Given the description of an element on the screen output the (x, y) to click on. 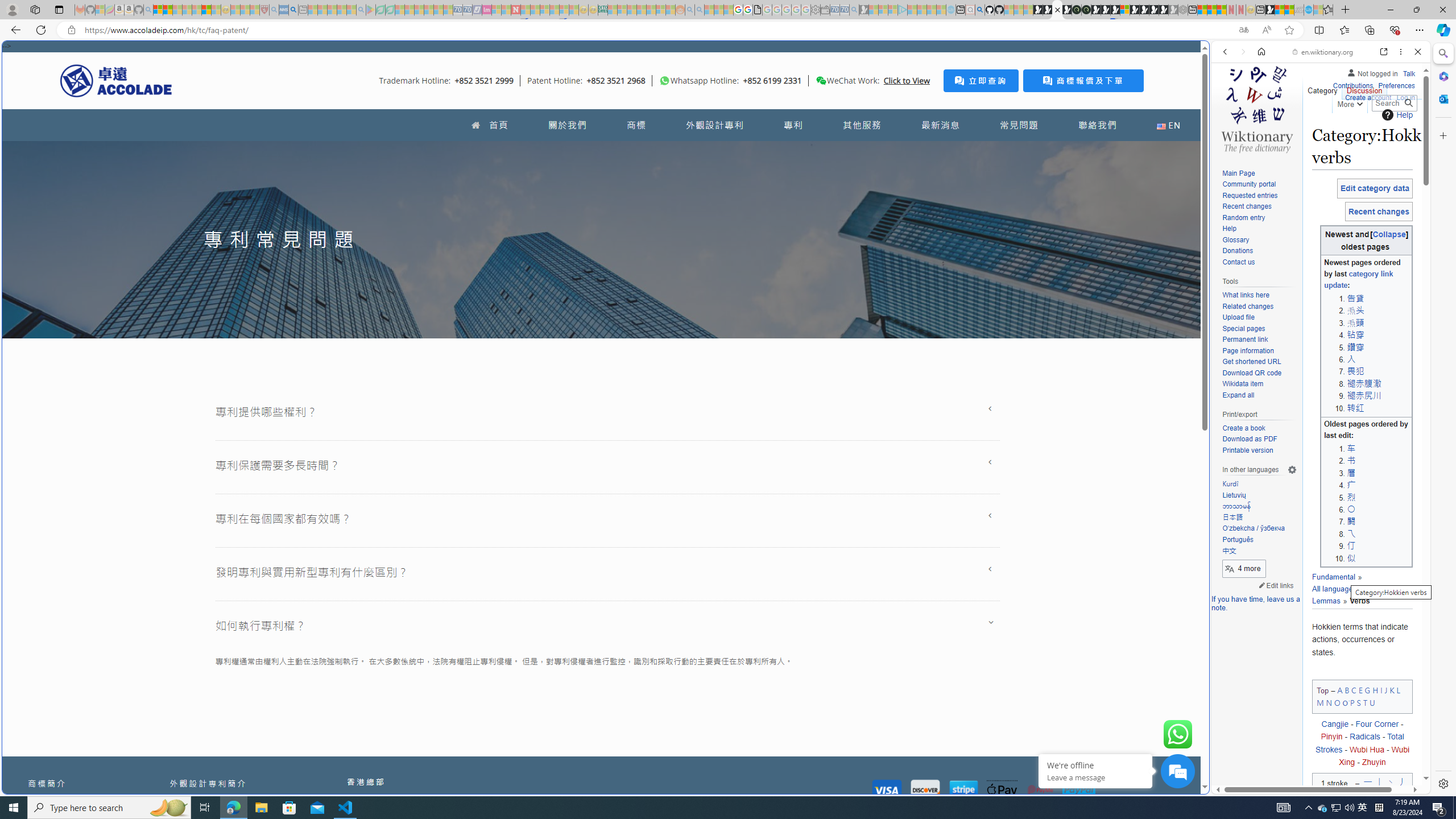
Permanent link (1244, 339)
Donations (1259, 251)
